Given the description of an element on the screen output the (x, y) to click on. 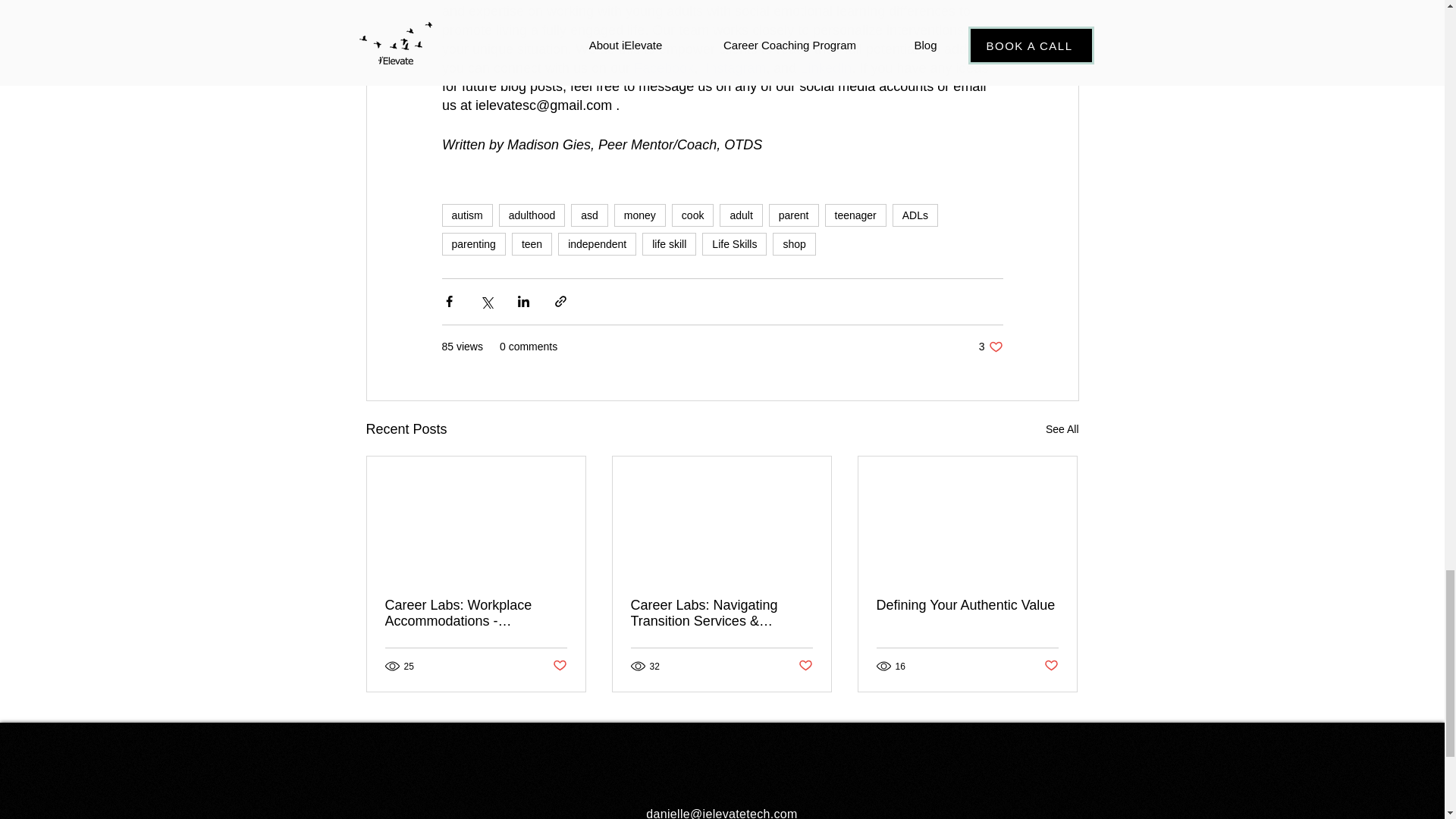
parenting (473, 243)
independent (596, 243)
asd (589, 214)
Life Skills (734, 243)
 Instagram (733, 68)
ADLs (914, 214)
money (639, 214)
adulthood (532, 214)
cook (692, 214)
teenager (855, 214)
 LinkedIn (823, 68)
Post not marked as liked (804, 666)
adult (740, 214)
Post not marked as liked (558, 666)
